Given the description of an element on the screen output the (x, y) to click on. 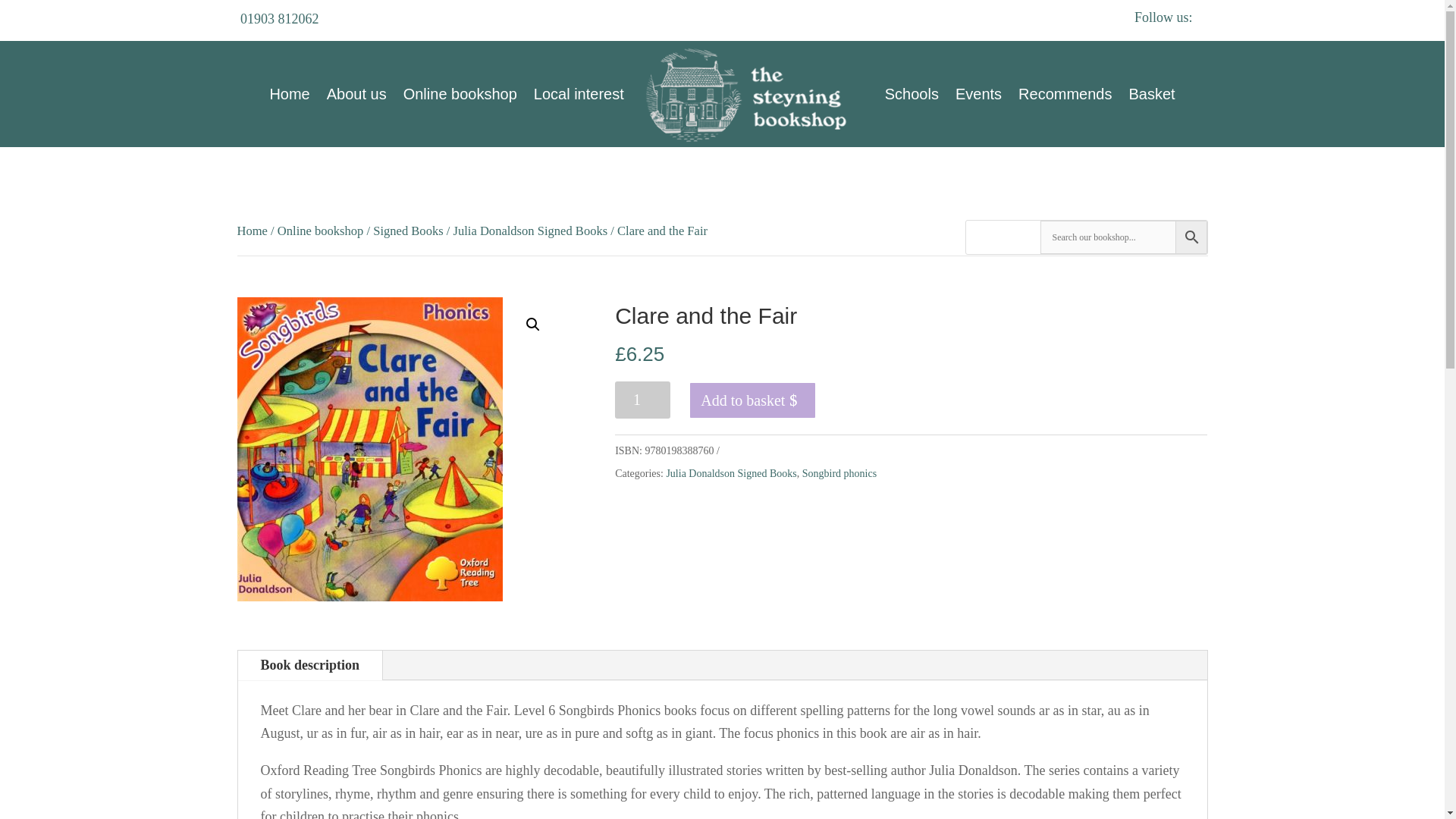
01903 812062 (279, 18)
Add to basket (752, 400)
Online bookshop (459, 93)
Signed Books (407, 230)
Home (250, 230)
1 (641, 399)
Julia Donaldson Signed Books (530, 230)
Songbird phonics (839, 473)
Book description (310, 665)
Online bookshop (321, 230)
Julia Donaldson Signed Books (730, 473)
